Given the description of an element on the screen output the (x, y) to click on. 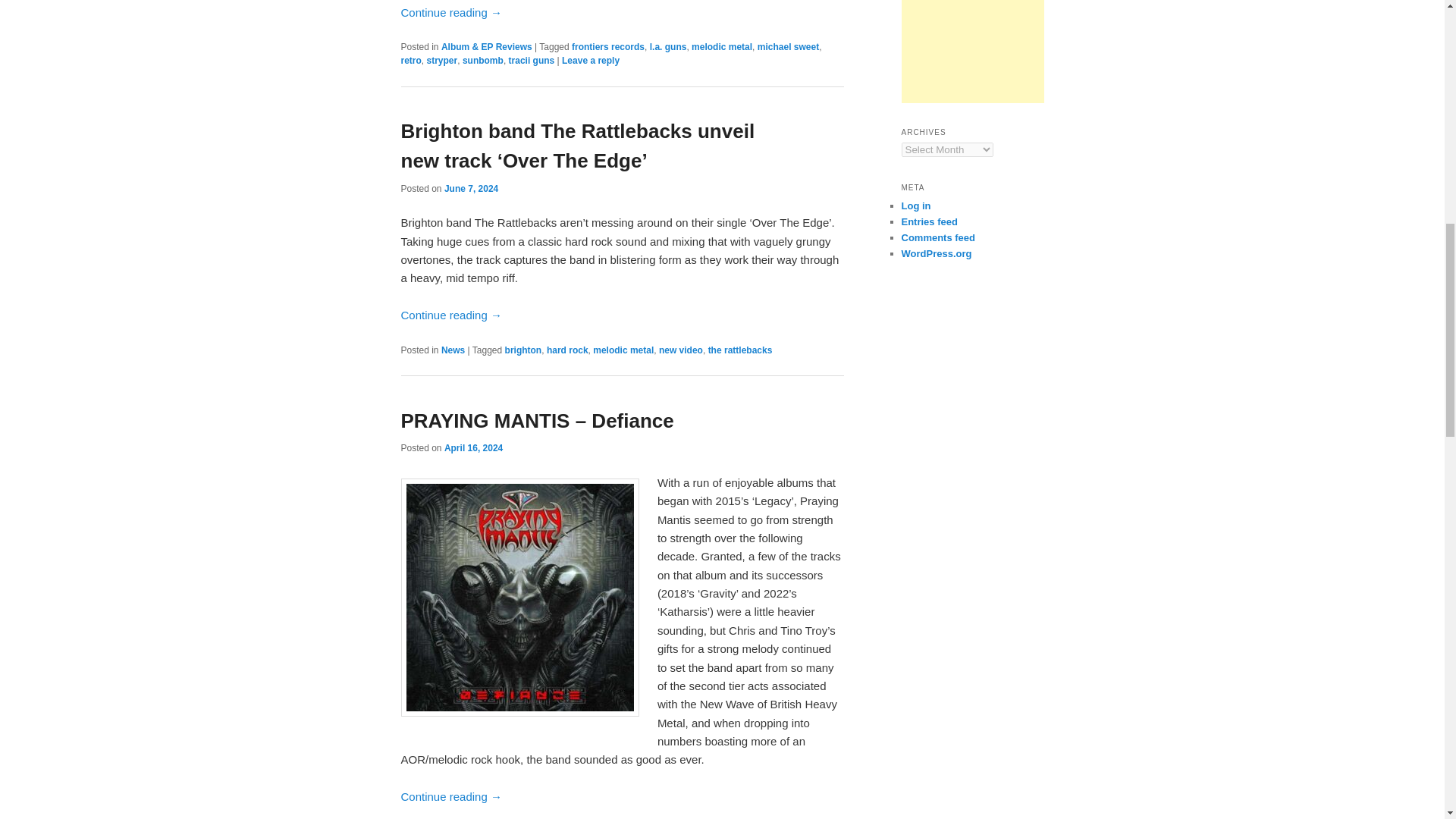
Advertisement (972, 51)
News (452, 349)
hard rock (567, 349)
brighton (523, 349)
9:26 am (470, 188)
melodic metal (721, 46)
l.a. guns (668, 46)
michael sweet (787, 46)
melodic metal (622, 349)
new video (681, 349)
June 7, 2024 (470, 188)
frontiers records (608, 46)
tracii guns (531, 60)
sunbomb (483, 60)
Leave a reply (591, 60)
